Given the description of an element on the screen output the (x, y) to click on. 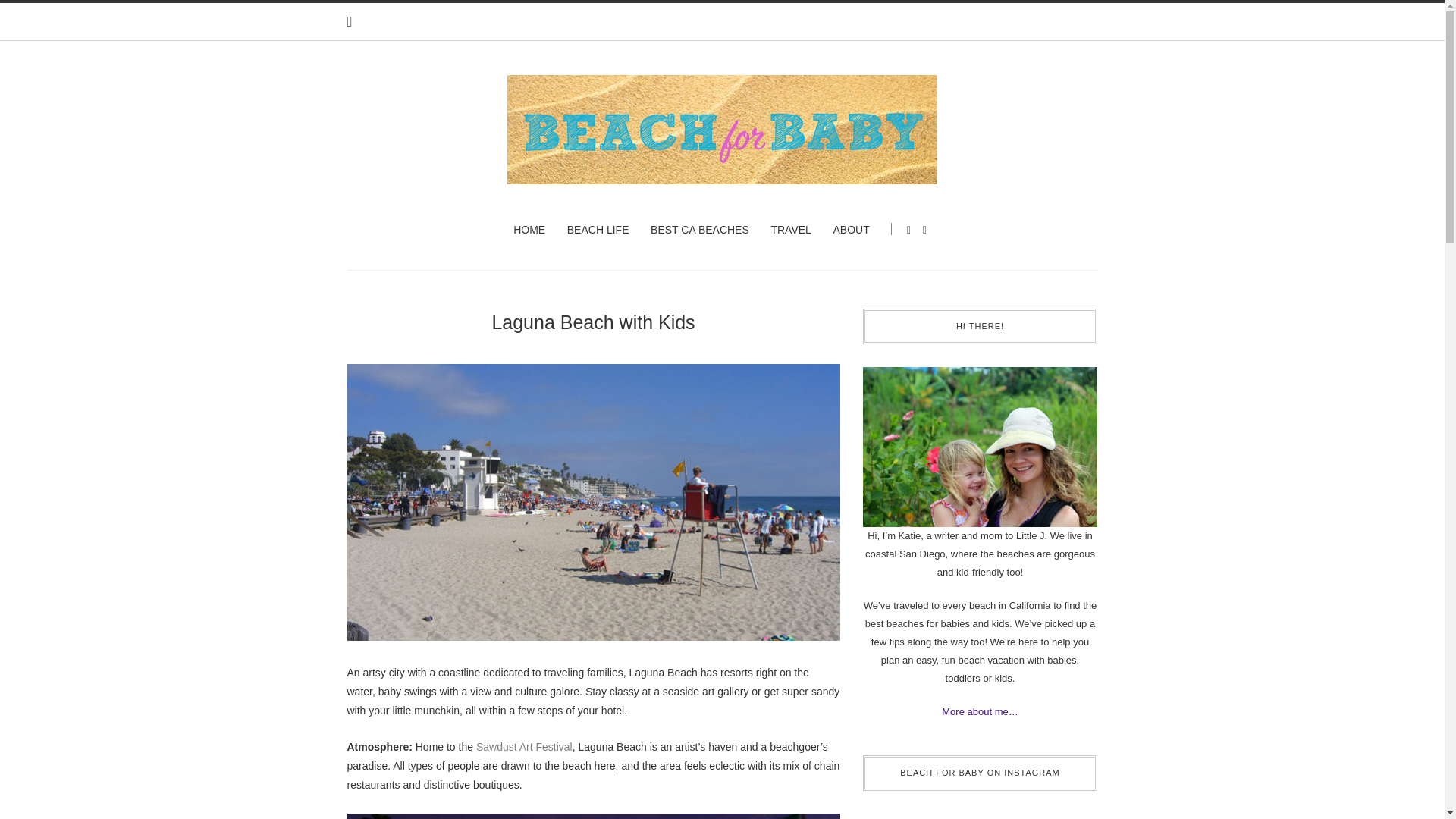
TRAVEL (790, 229)
BEACH LIFE (597, 229)
Laguna Beach with Kids (593, 512)
BEST CA BEACHES (699, 229)
Sawdust Art Festival (524, 746)
ABOUT (850, 229)
HOME (528, 229)
Laguna Beach with Kids (593, 322)
